Given the description of an element on the screen output the (x, y) to click on. 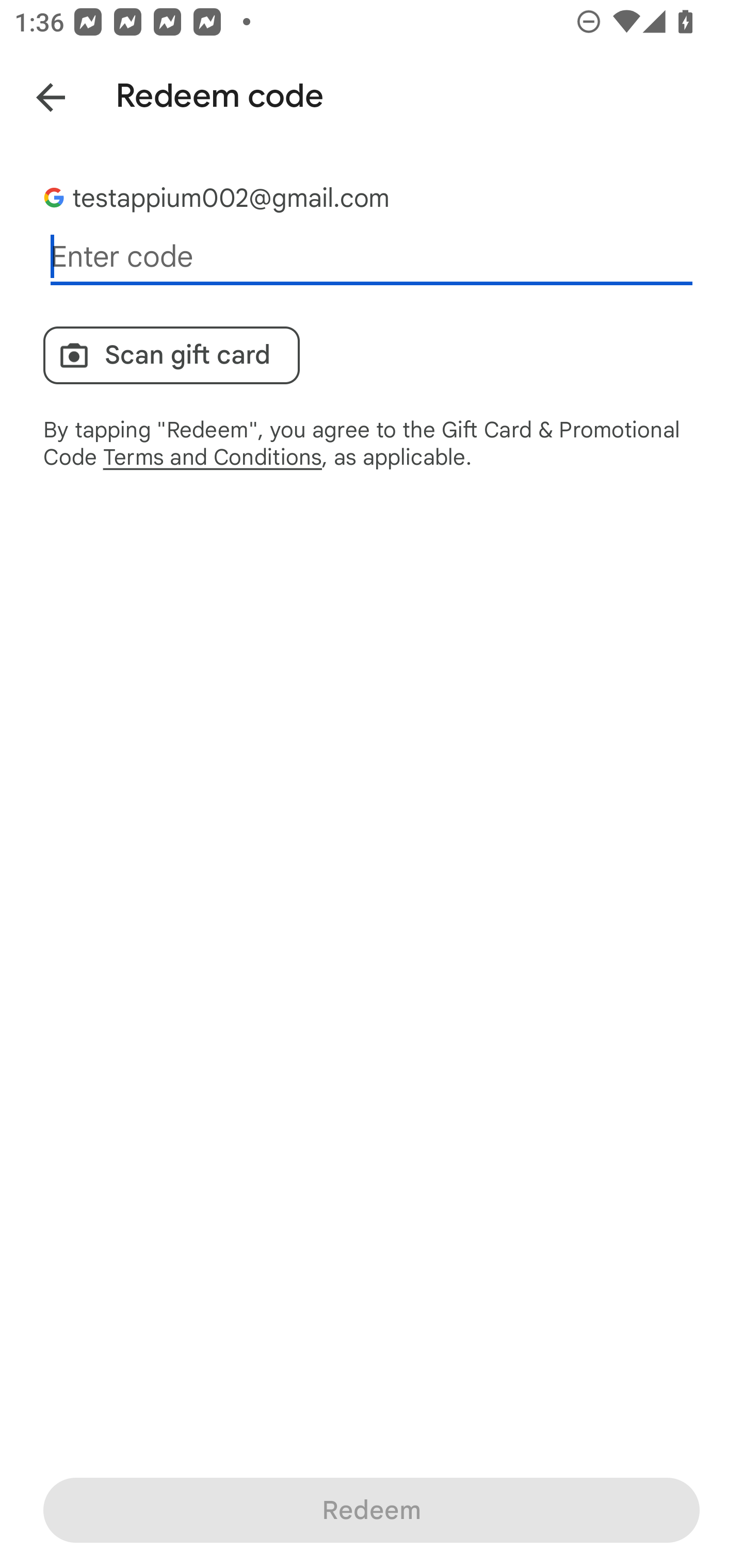
Back (36, 94)
Enter code (371, 256)
Scan gift card (171, 355)
